Given the description of an element on the screen output the (x, y) to click on. 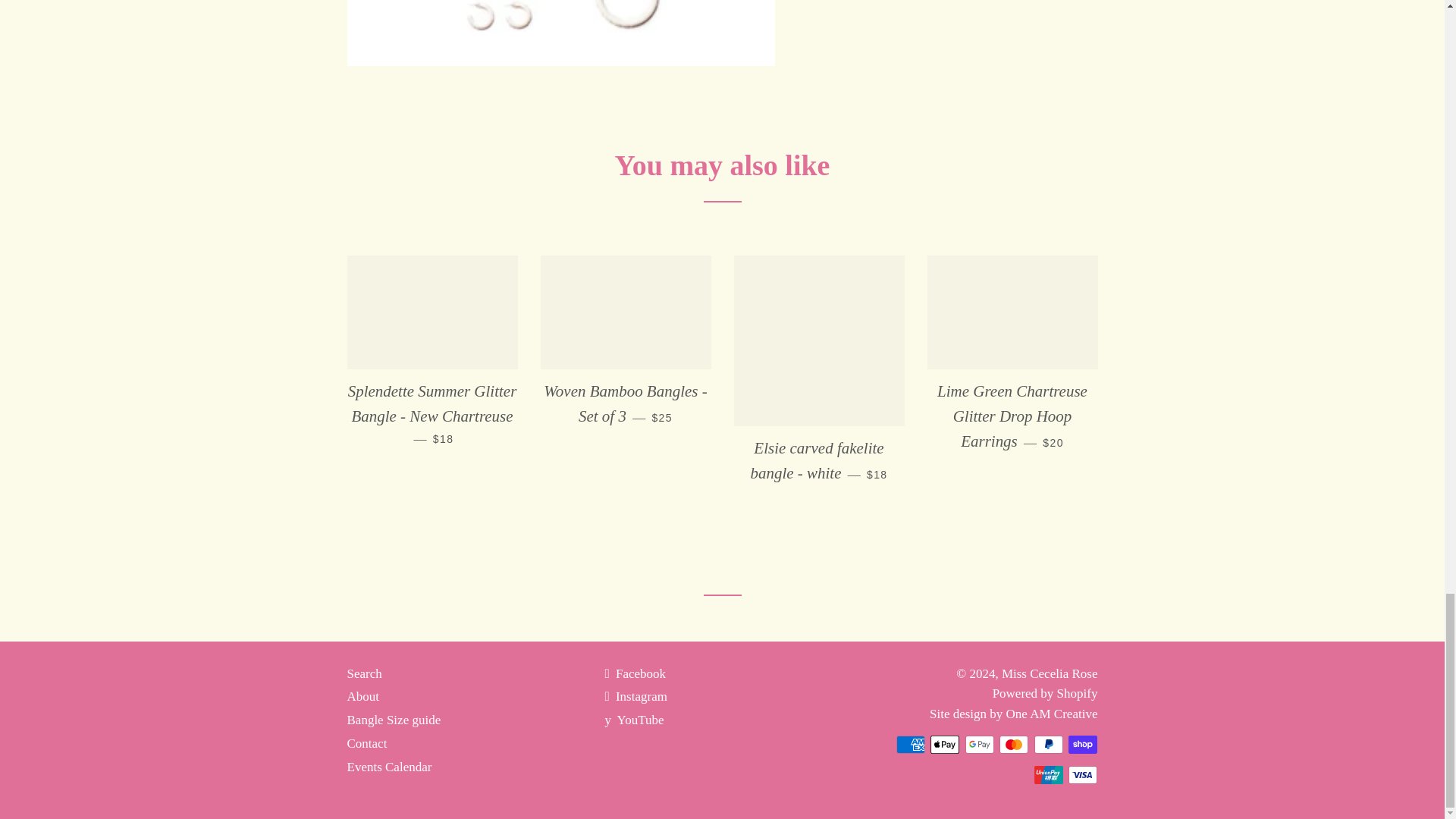
PayPal (1047, 744)
Mastercard (1012, 744)
Miss Cecelia Rose on YouTube (633, 719)
Visa (1082, 774)
Apple Pay (944, 744)
Google Pay (979, 744)
Miss Cecelia Rose on Instagram (635, 696)
Miss Cecelia Rose on Facebook (634, 673)
Union Pay (1047, 774)
Shop Pay (1082, 744)
American Express (910, 744)
